Given the description of an element on the screen output the (x, y) to click on. 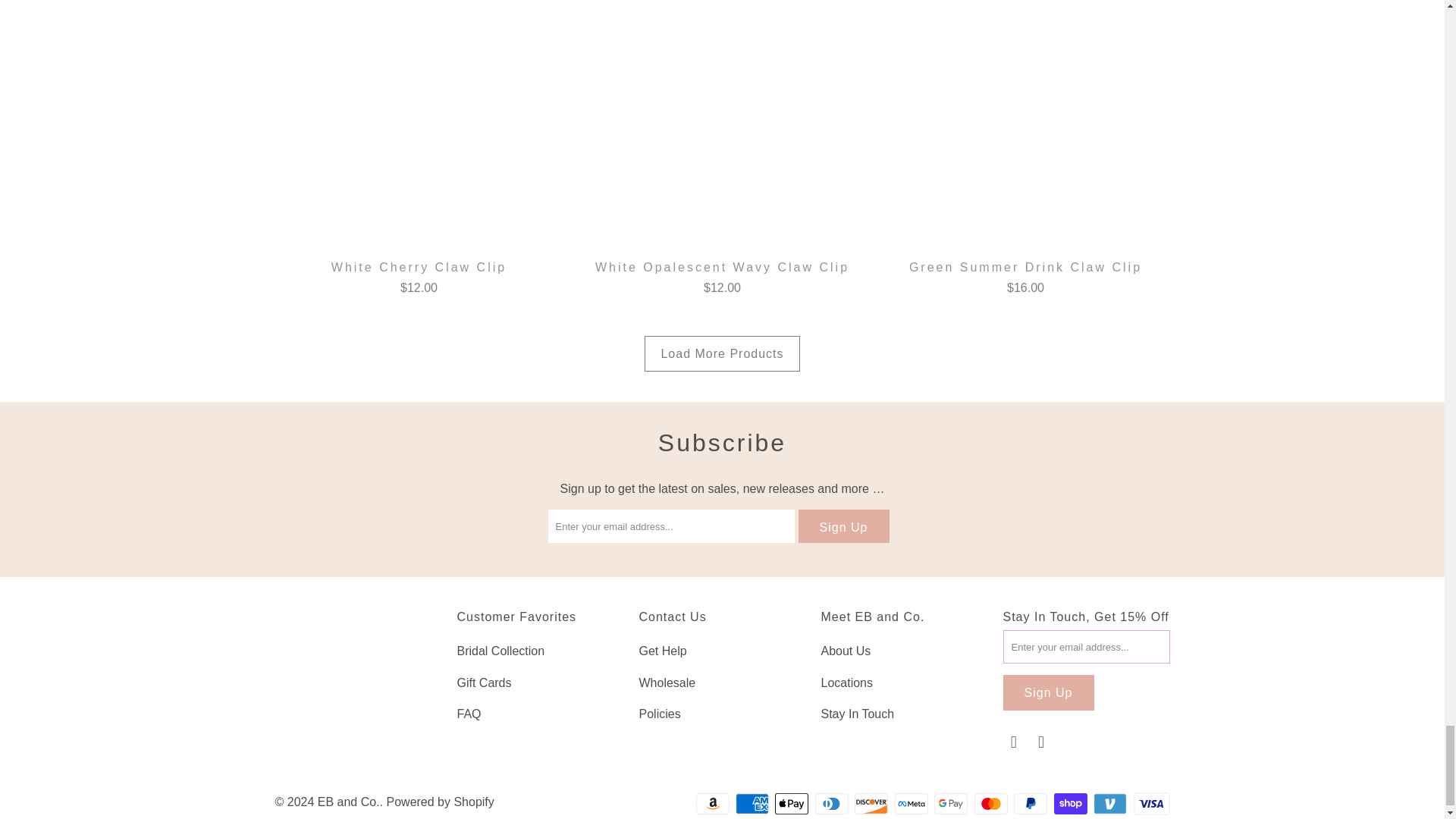
Sign Up (1048, 692)
Visa (1150, 803)
PayPal (1031, 803)
Meta Pay (913, 803)
EB and Co. on Facebook (1014, 742)
Apple Pay (792, 803)
Google Pay (952, 803)
Diners Club (833, 803)
Venmo (1111, 803)
Discover (872, 803)
EB and Co. on Instagram (1041, 742)
Sign Up (842, 525)
Amazon (713, 803)
Shop Pay (1072, 803)
Mastercard (992, 803)
